Given the description of an element on the screen output the (x, y) to click on. 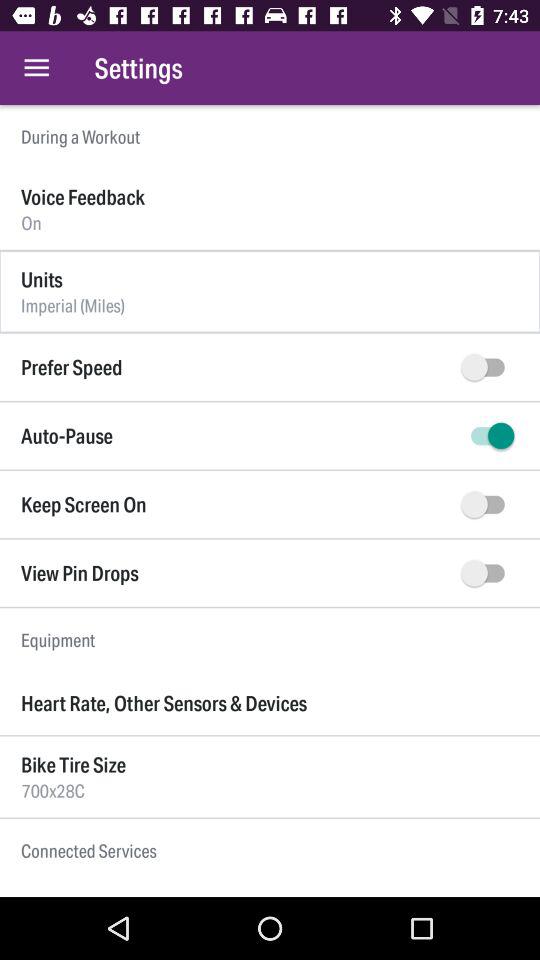
toggle to view pin drops (487, 573)
